Given the description of an element on the screen output the (x, y) to click on. 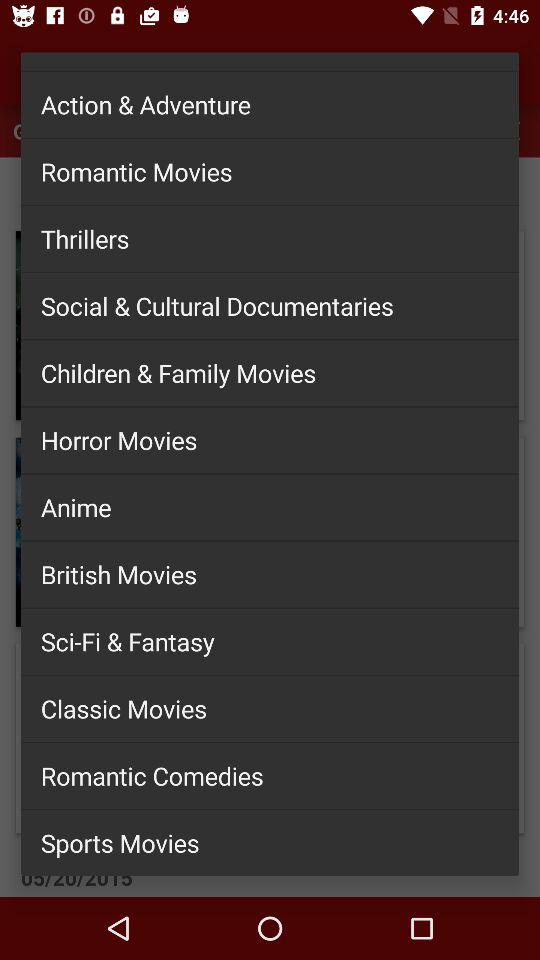
tap the    action & adventure icon (269, 104)
